Given the description of an element on the screen output the (x, y) to click on. 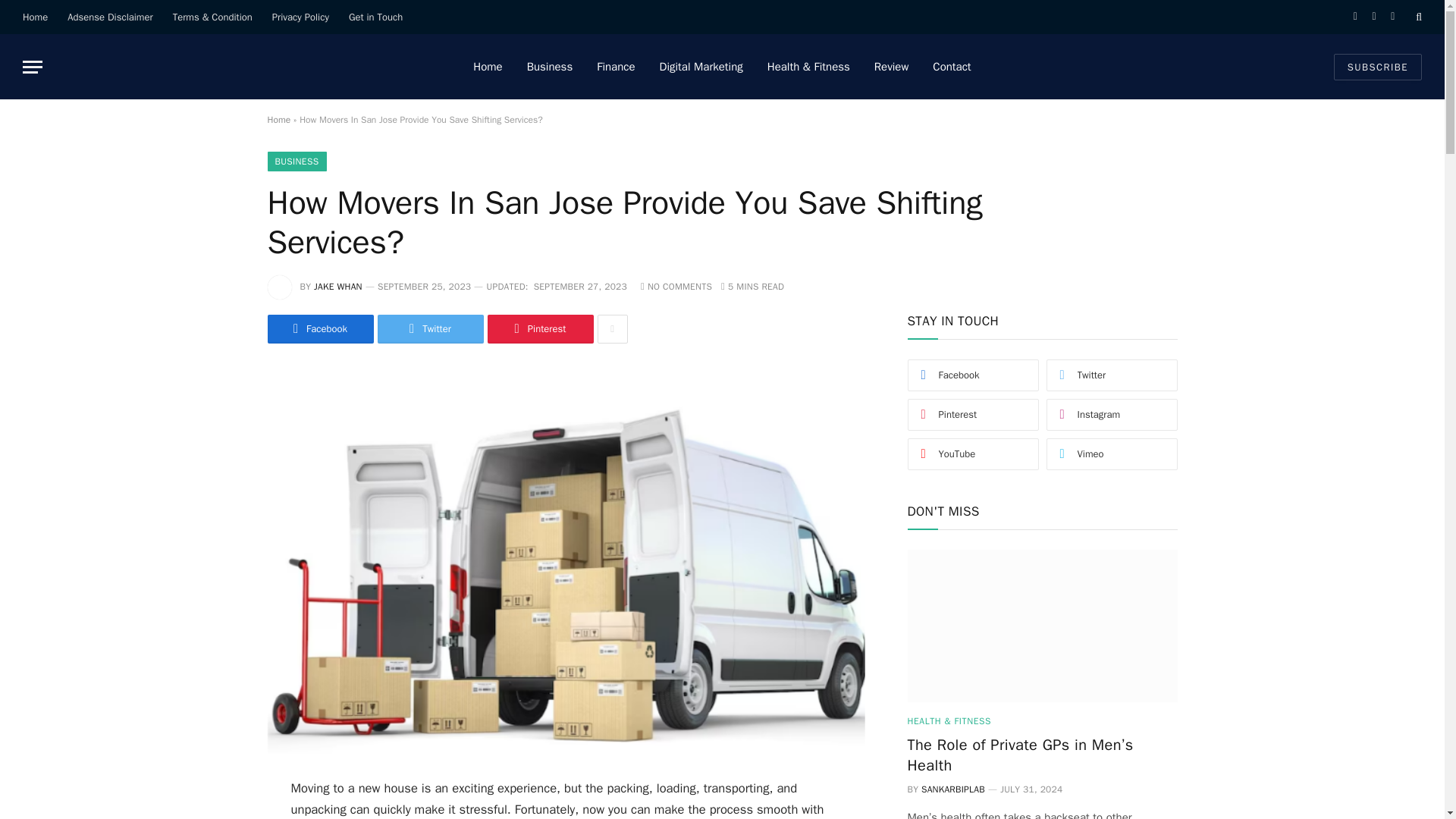
Contact (951, 66)
Adsense Disclaimer (109, 17)
NO COMMENTS (675, 286)
JAKE WHAN (338, 286)
Finance (615, 66)
BUSINESS (296, 161)
Share on Pinterest (539, 328)
Digital Marketing (701, 66)
Posts by Jake Whan (338, 286)
SUBSCRIBE (1377, 66)
